Given the description of an element on the screen output the (x, y) to click on. 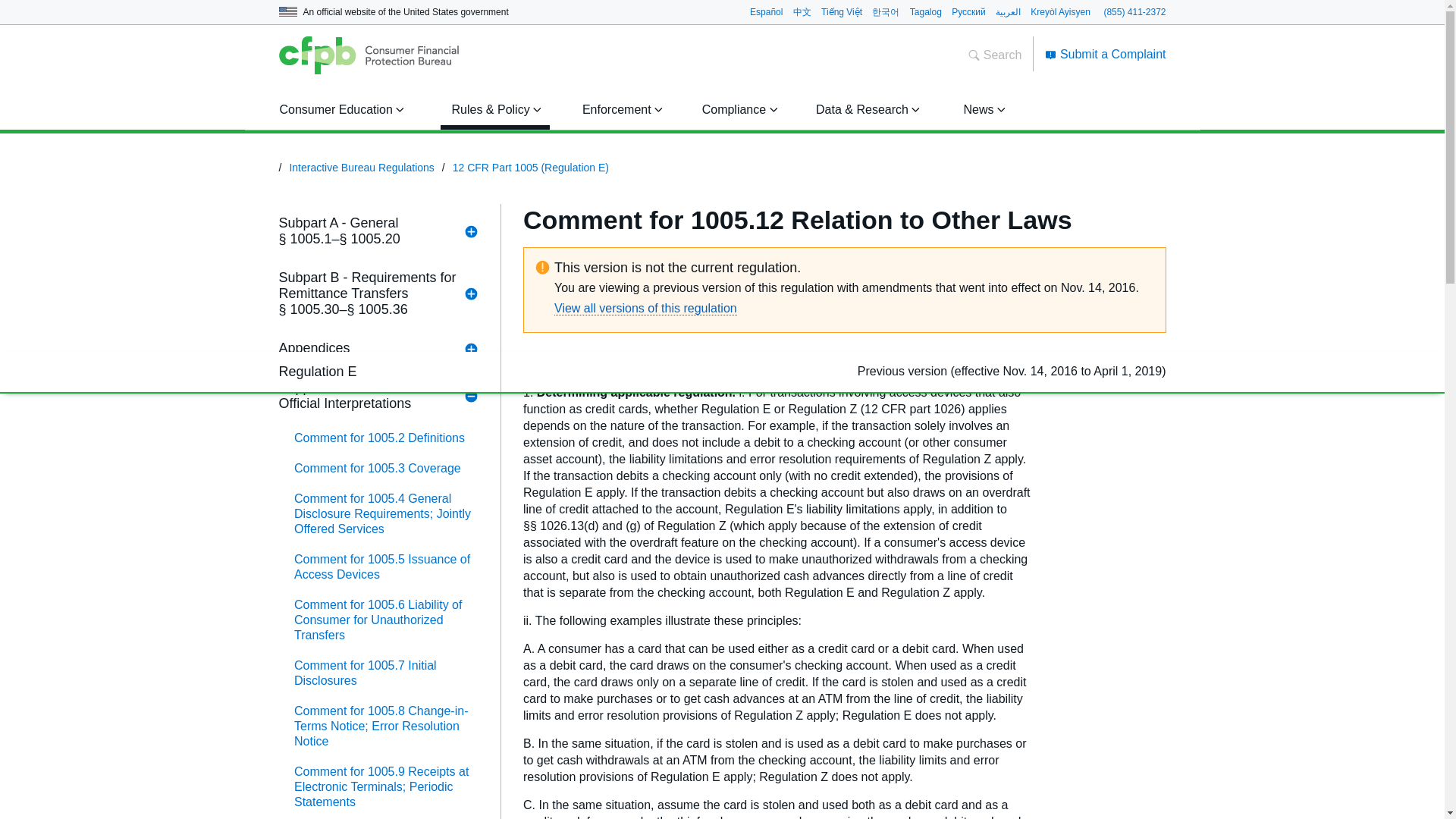
Search (995, 54)
Consumer Education (339, 109)
Submit a Complaint (1105, 52)
Tagalog (926, 10)
